Given the description of an element on the screen output the (x, y) to click on. 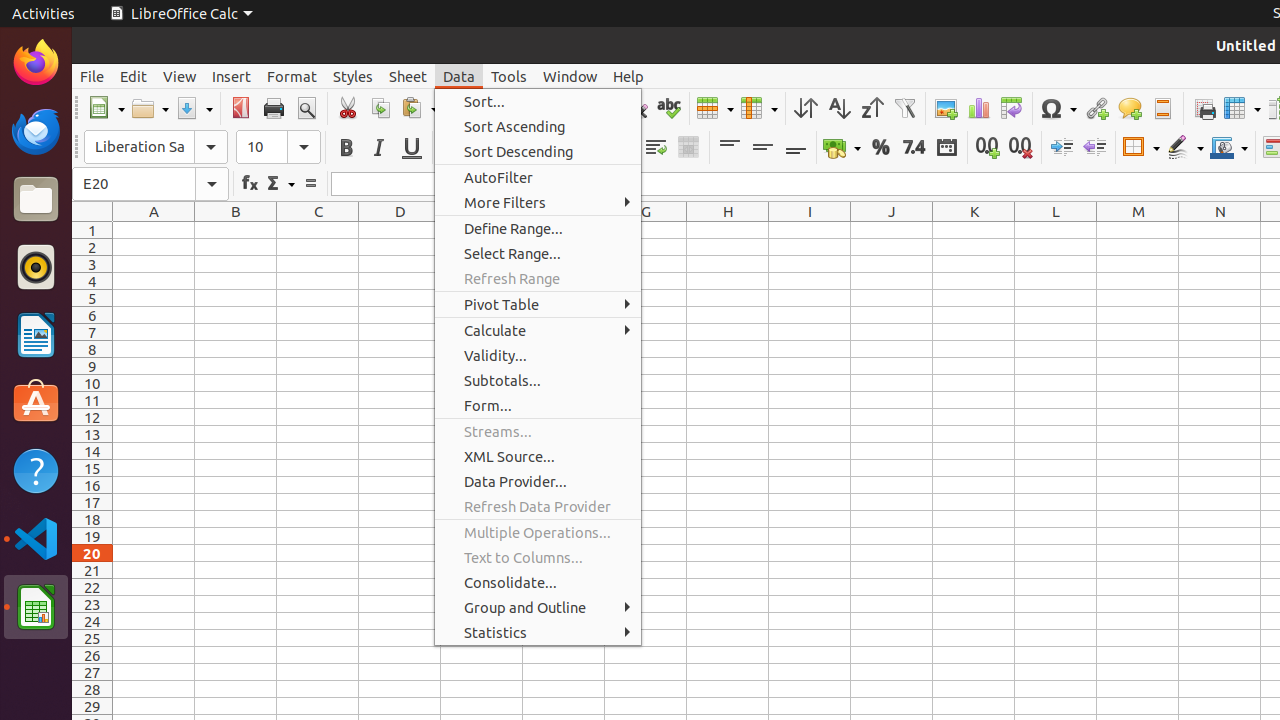
Help Element type: push-button (36, 470)
Sort Descending Element type: push-button (871, 108)
K1 Element type: table-cell (974, 230)
Select Function Element type: push-button (280, 183)
Italic Element type: toggle-button (378, 147)
